Given the description of an element on the screen output the (x, y) to click on. 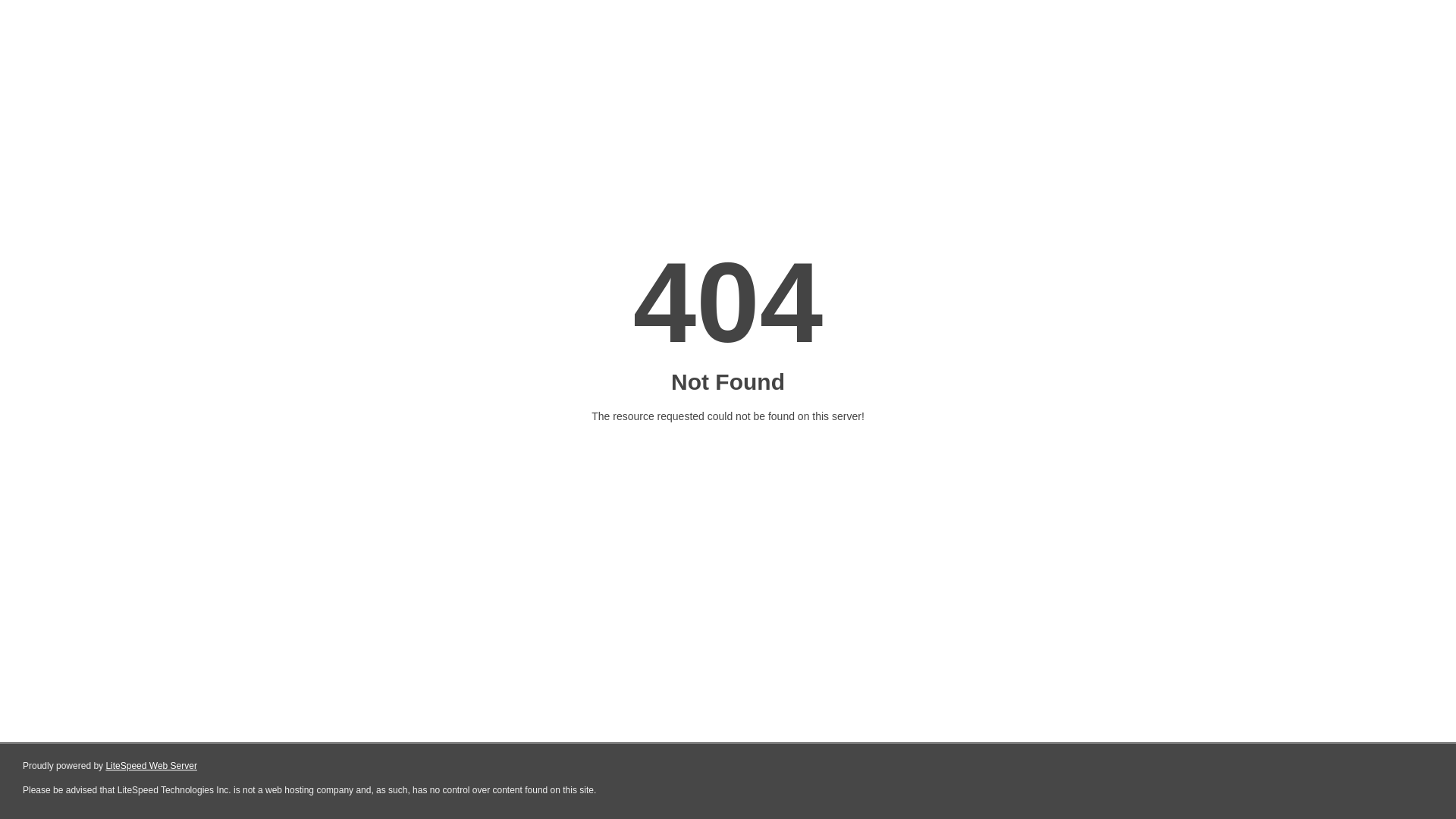
LiteSpeed Web Server Element type: text (151, 765)
